Given the description of an element on the screen output the (x, y) to click on. 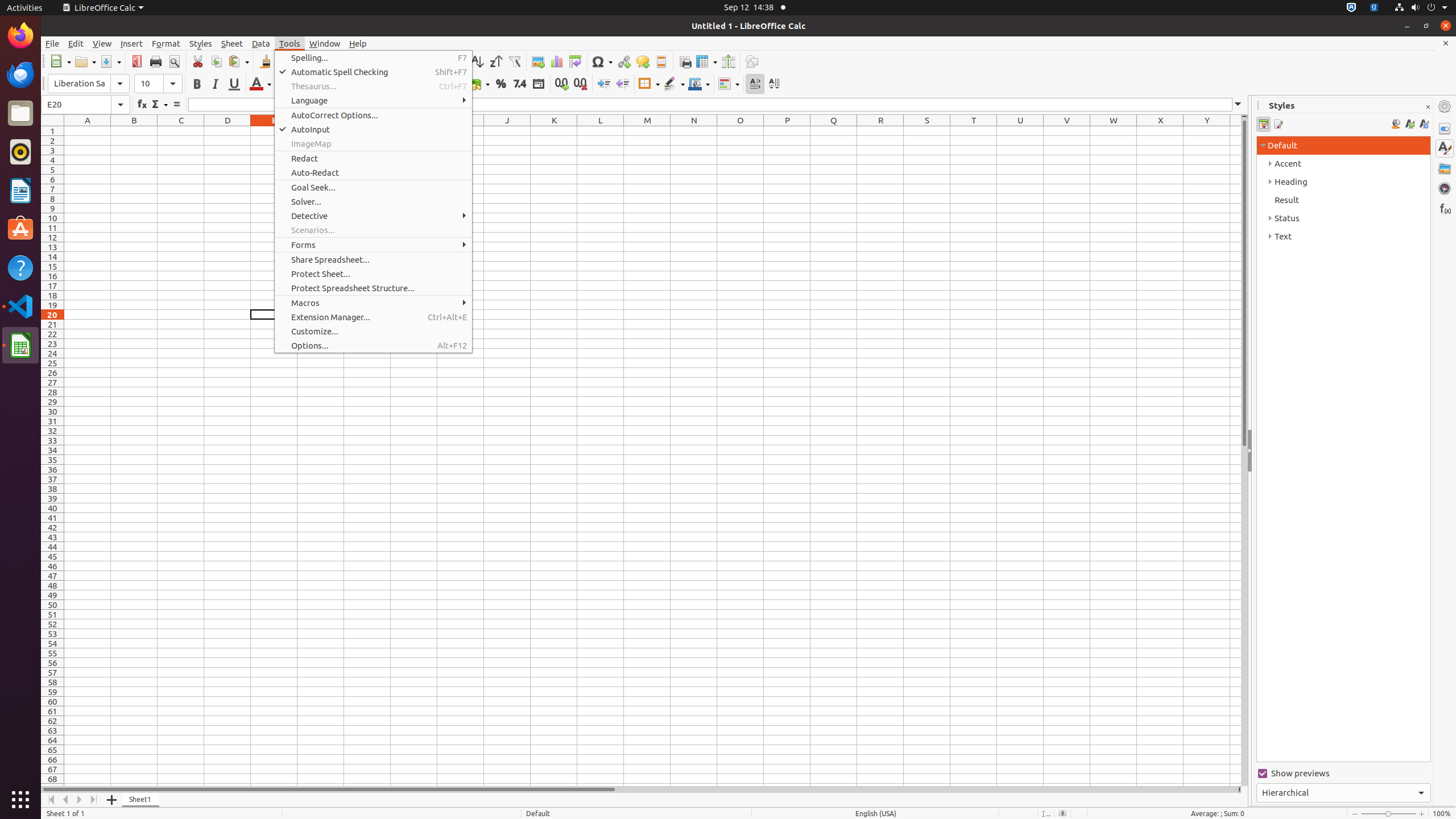
Name Box Element type: combo-box (85, 104)
Font Color Element type: push-button (260, 83)
Show previews Element type: check-box (1343, 773)
Styles Element type: radio-button (1444, 148)
P1 Element type: table-cell (786, 130)
